Given the description of an element on the screen output the (x, y) to click on. 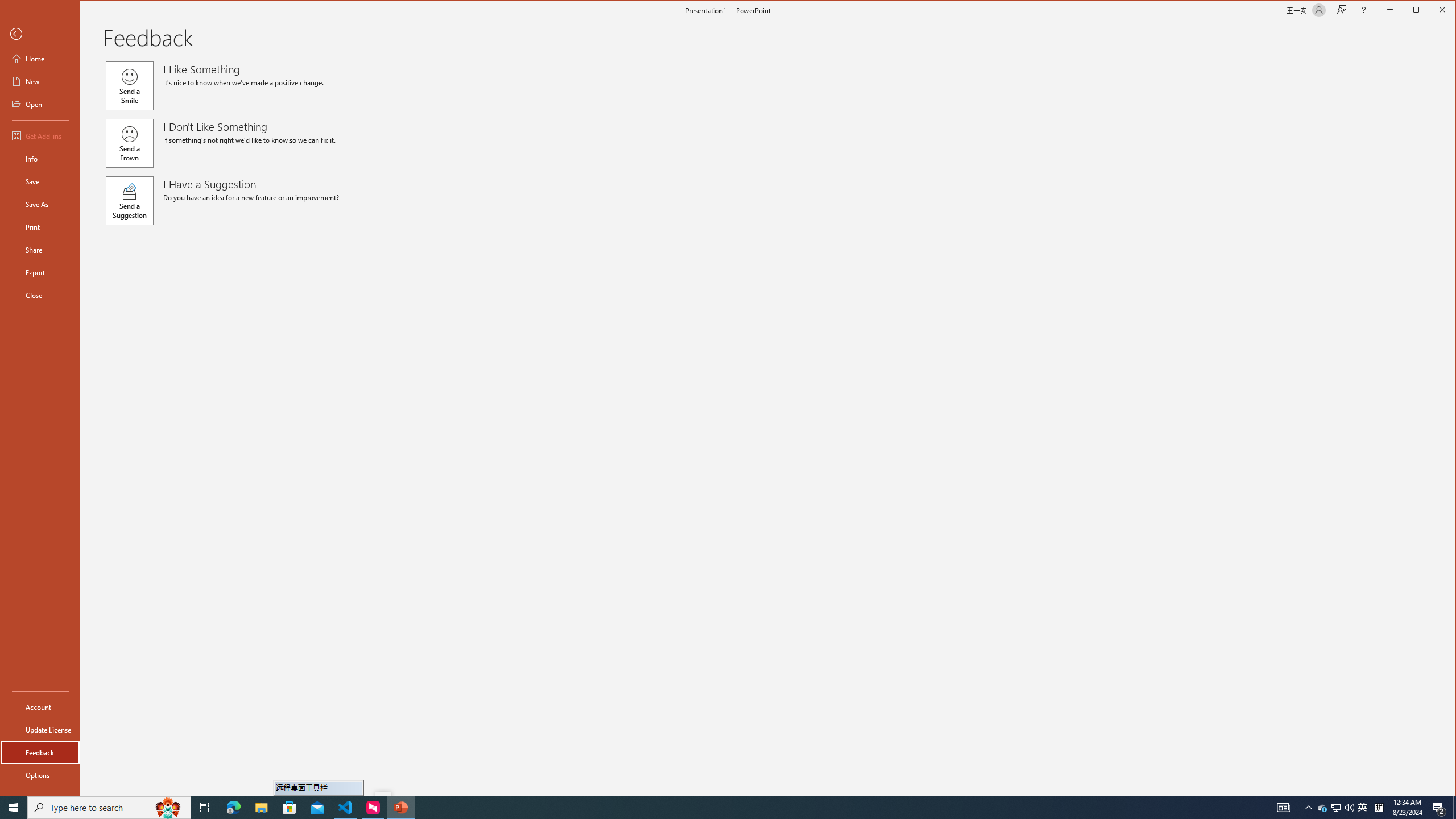
New (40, 80)
PowerPoint - 1 running window (400, 807)
Action Center, 2 new notifications (1439, 807)
Search highlights icon opens search home window (167, 807)
Back (40, 34)
Account (40, 706)
File Explorer (261, 807)
Get Add-ins (40, 135)
Q2790: 100% (1349, 807)
Notification Chevron (1308, 807)
Start (13, 807)
